Given the description of an element on the screen output the (x, y) to click on. 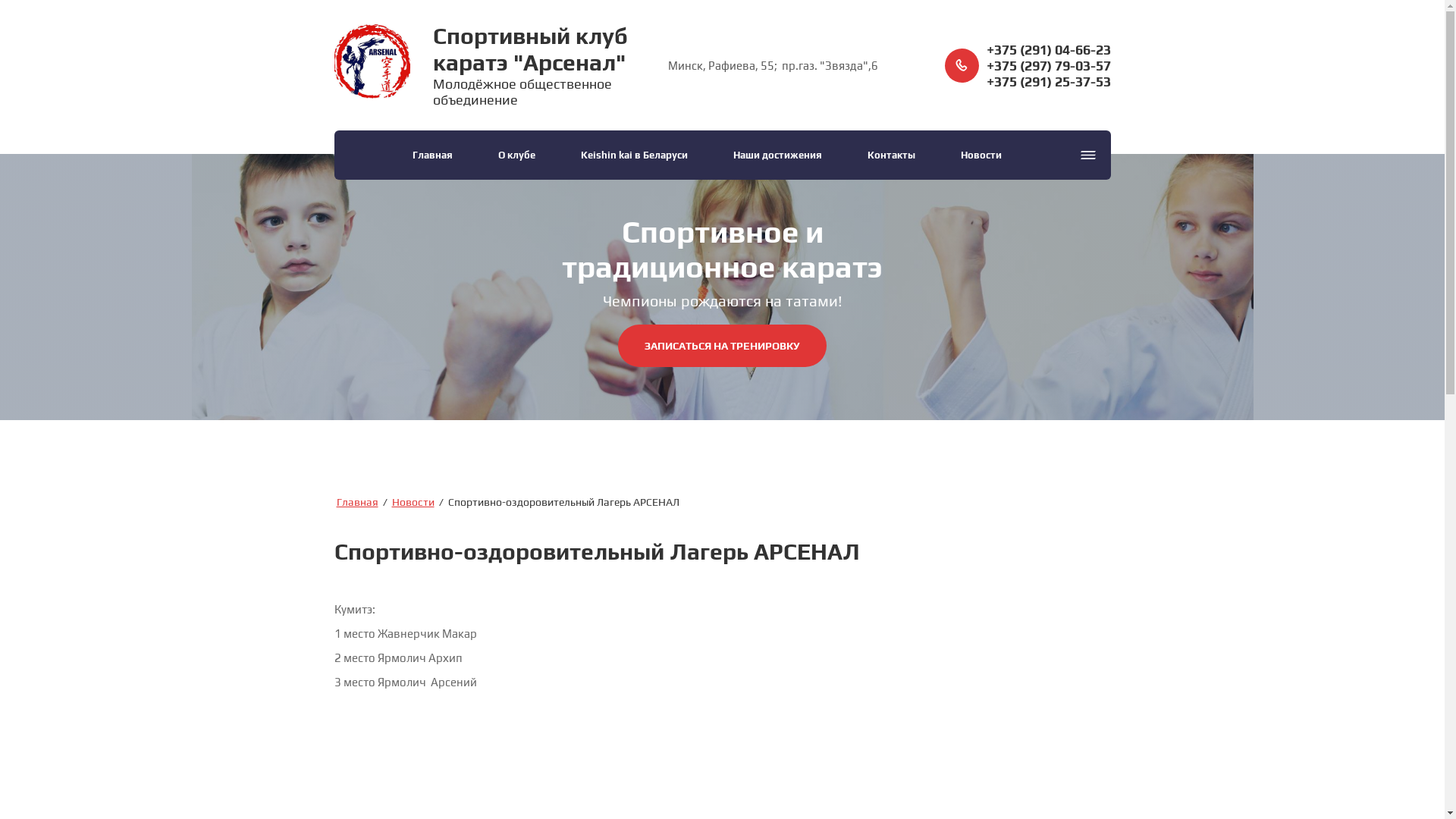
... Element type: text (1087, 154)
+375 (297) 79-03-57 Element type: text (1047, 65)
+375 (291) 04-66-23 Element type: text (1047, 48)
+375 (291) 25-37-53 Element type: text (1047, 80)
